Given the description of an element on the screen output the (x, y) to click on. 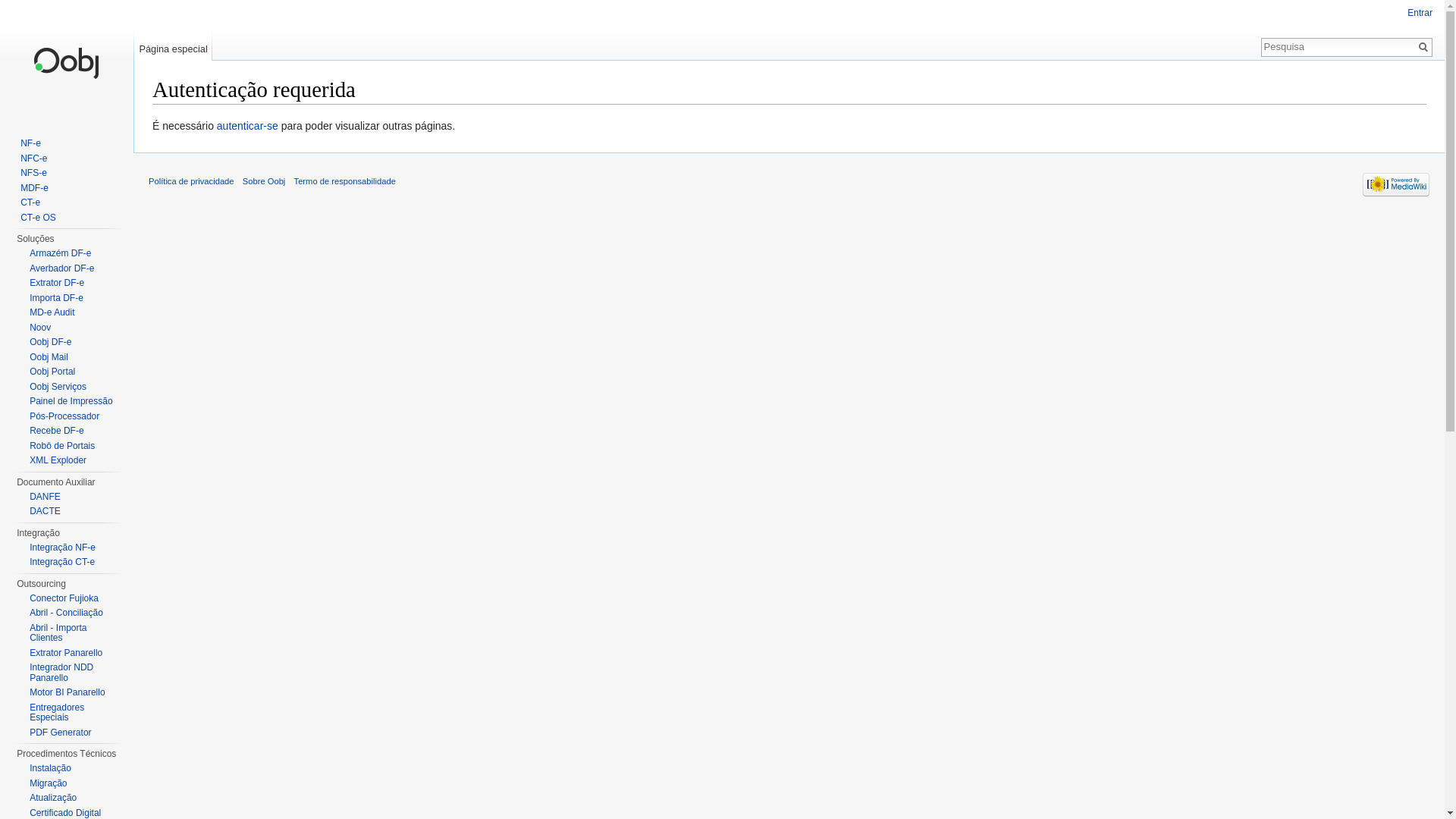
Extrator DF-e Element type: text (56, 282)
Ir Element type: text (1423, 46)
MD-e Audit Element type: text (51, 312)
Importa DF-e Element type: text (56, 297)
XML Exploder Element type: text (57, 460)
NFS-e Element type: text (33, 172)
NFC-e Element type: text (33, 158)
Motor BI Panarello Element type: text (66, 692)
DANFE Element type: text (44, 496)
Pesquisar em Oobj [alt-shift-f] Element type: hover (1338, 45)
PDF Generator Element type: text (60, 731)
Certificado Digital Element type: text (64, 811)
Oobj Mail Element type: text (48, 356)
autenticar-se Element type: text (247, 125)
Recebe DF-e Element type: text (56, 430)
CT-e Element type: text (30, 202)
Termo de responsabilidade Element type: text (344, 180)
Entregadores Especiais Element type: text (56, 712)
Integrador NDD Panarello Element type: text (61, 672)
Oobj Portal Element type: text (52, 371)
Sobre Oobj Element type: text (263, 180)
NF-e Element type: text (30, 143)
Entrar Element type: text (1419, 12)
Conector Fujioka Element type: text (63, 598)
MDF-e Element type: text (34, 187)
Abril - Importa Clientes Element type: text (57, 632)
CT-e OS Element type: text (38, 217)
DACTE Element type: text (44, 510)
Oobj DF-e Element type: text (50, 341)
Averbador DF-e Element type: text (61, 267)
Noov Element type: text (39, 326)
Extrator Panarello Element type: text (65, 652)
